Given the description of an element on the screen output the (x, y) to click on. 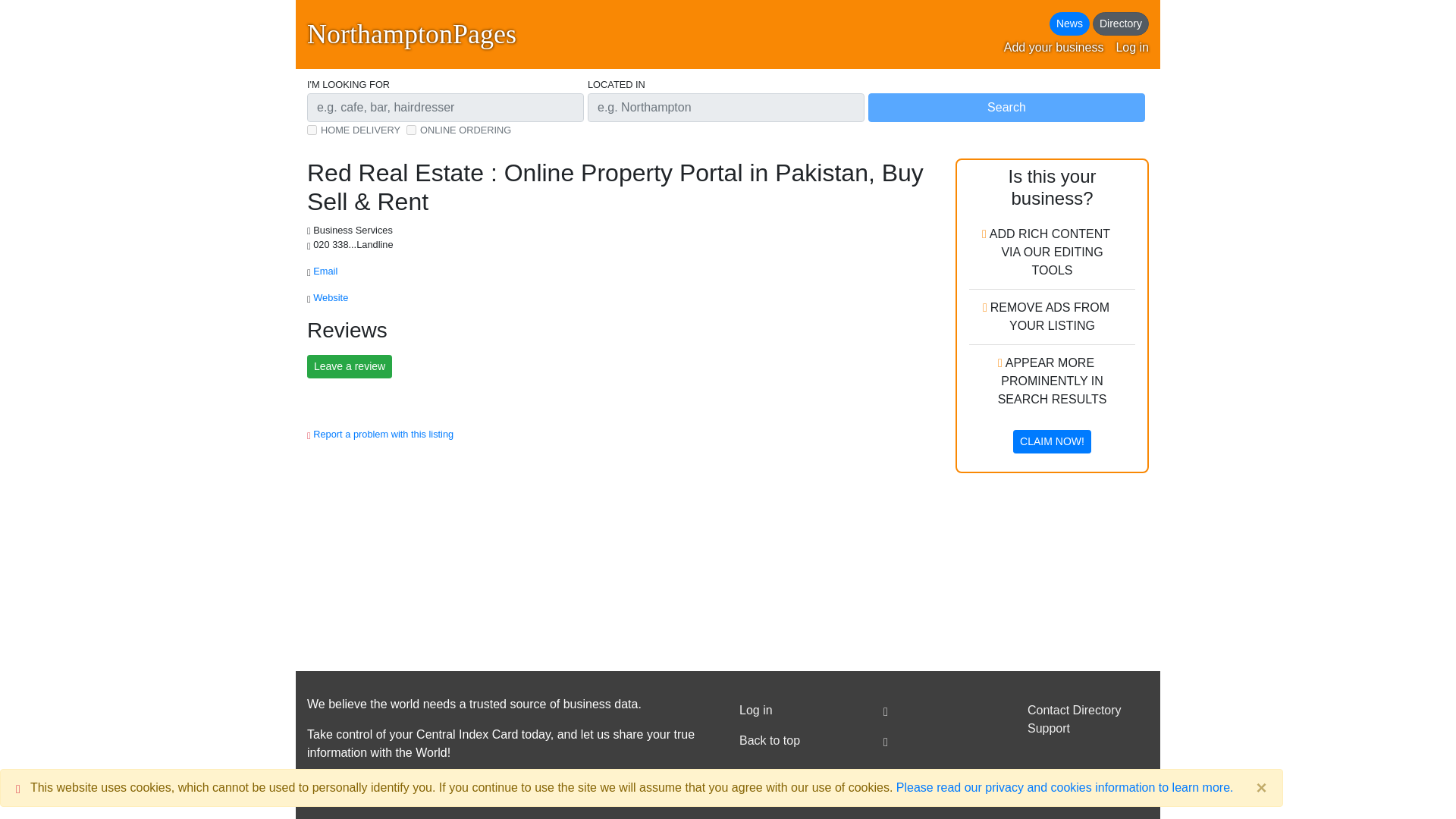
NorthamptonPages (411, 34)
on (411, 130)
News (1069, 24)
CLAIM NOW! (1051, 441)
Back to top (799, 740)
020 338...Landline (354, 244)
click to show number (354, 244)
Email (325, 270)
Add your business (1053, 47)
Website (331, 297)
